Given the description of an element on the screen output the (x, y) to click on. 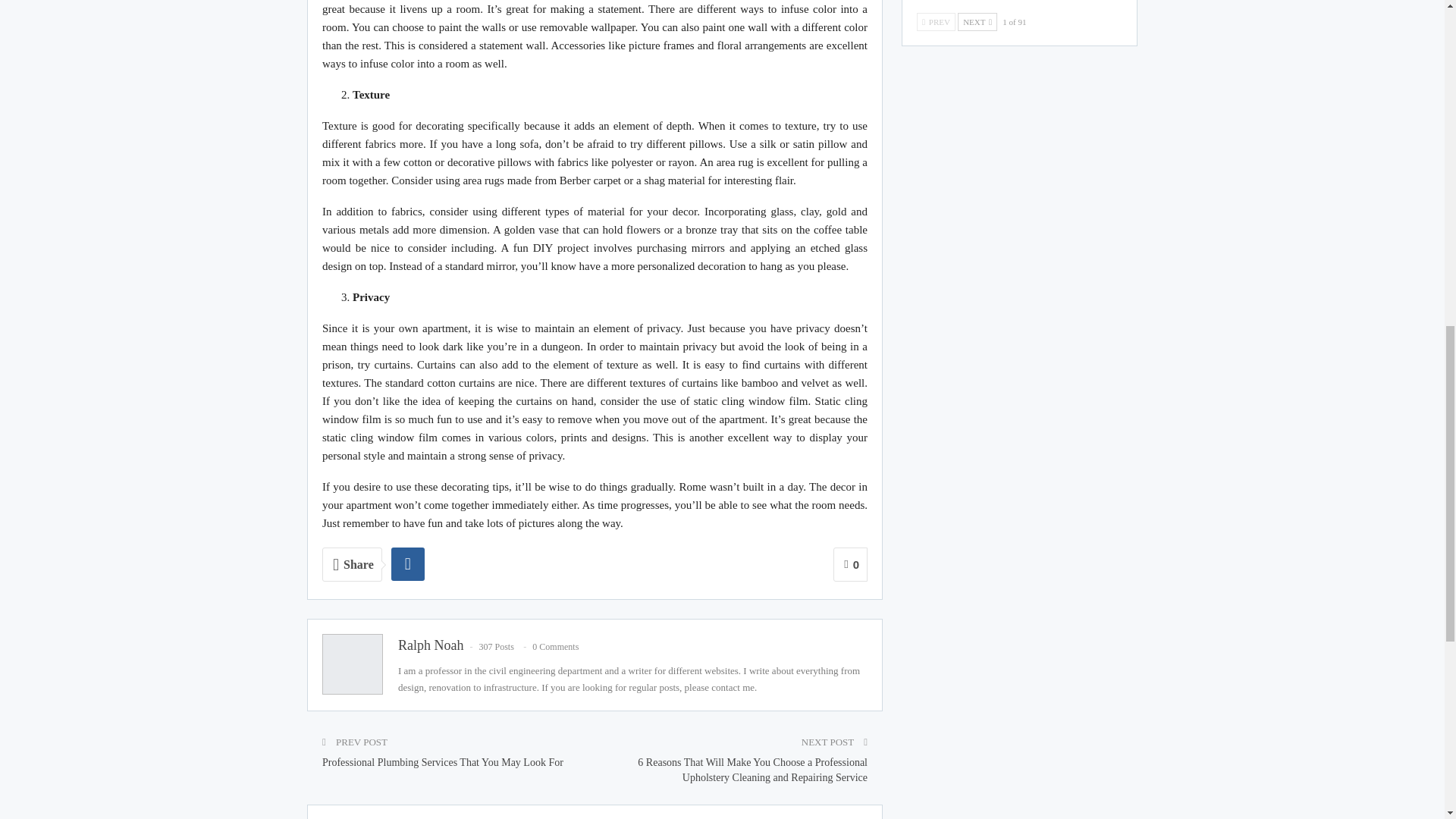
Professional Plumbing Services That You May Look For (442, 762)
0 (849, 564)
Ralph Noah (430, 645)
